Given the description of an element on the screen output the (x, y) to click on. 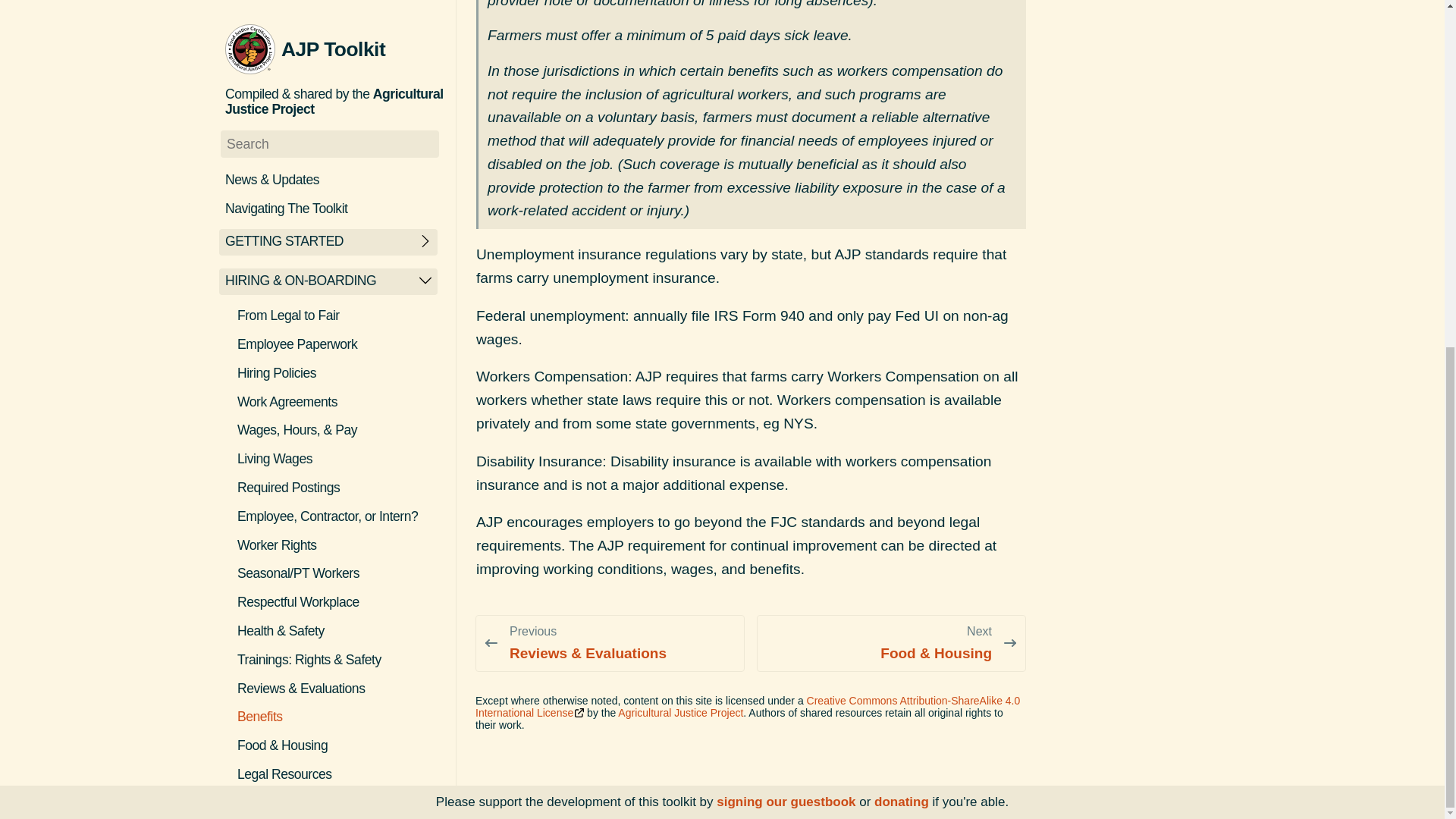
All Resources (338, 205)
Respectful Workplace (338, 6)
Legal Resources (338, 176)
Benefits (338, 118)
HUMAN RELATIONS (285, 278)
donating (901, 204)
signing our guestbook (786, 204)
